Given the description of an element on the screen output the (x, y) to click on. 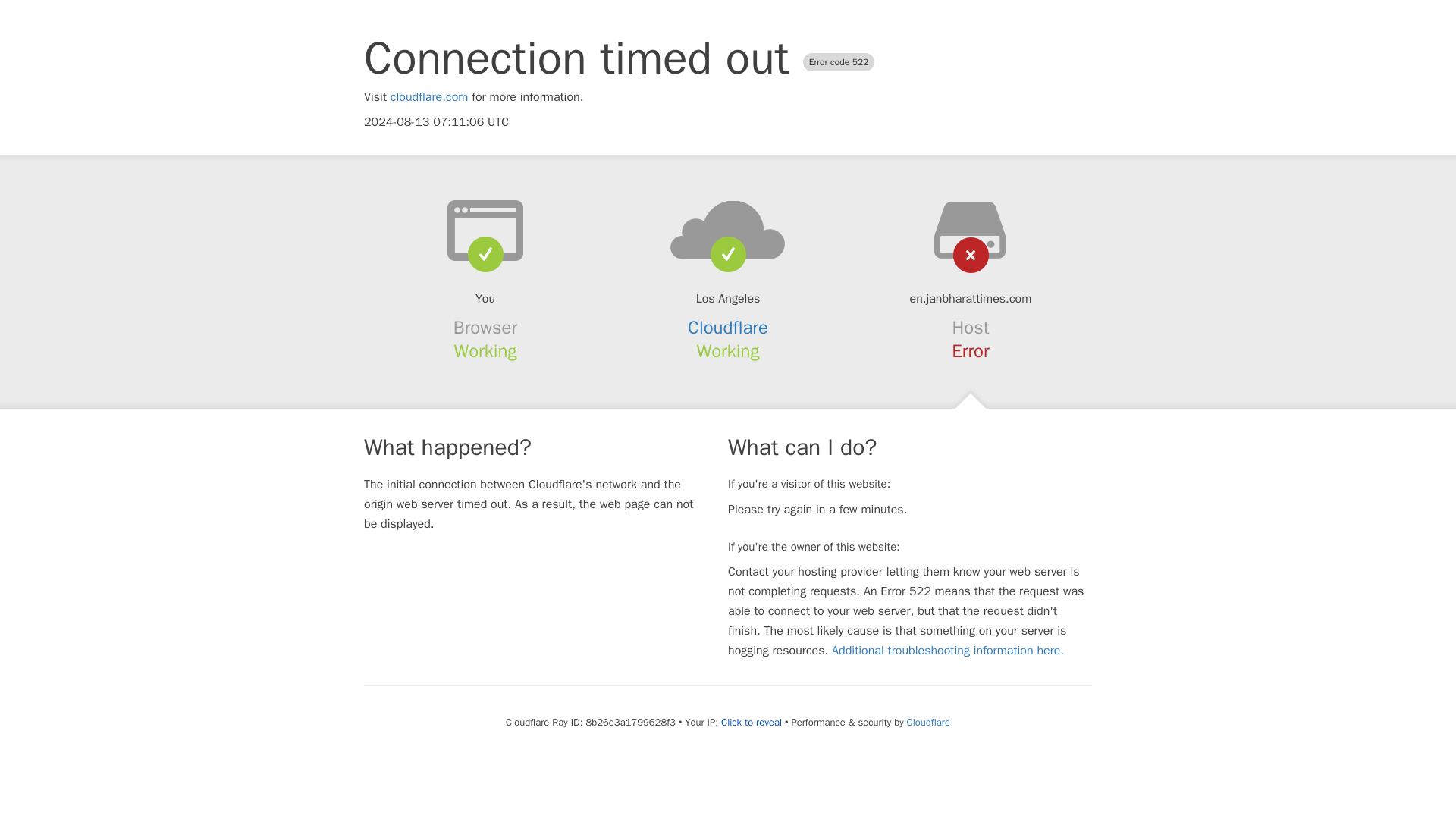
Cloudflare (727, 327)
Cloudflare (928, 721)
Click to reveal (750, 722)
cloudflare.com (429, 96)
Additional troubleshooting information here. (947, 650)
